Given the description of an element on the screen output the (x, y) to click on. 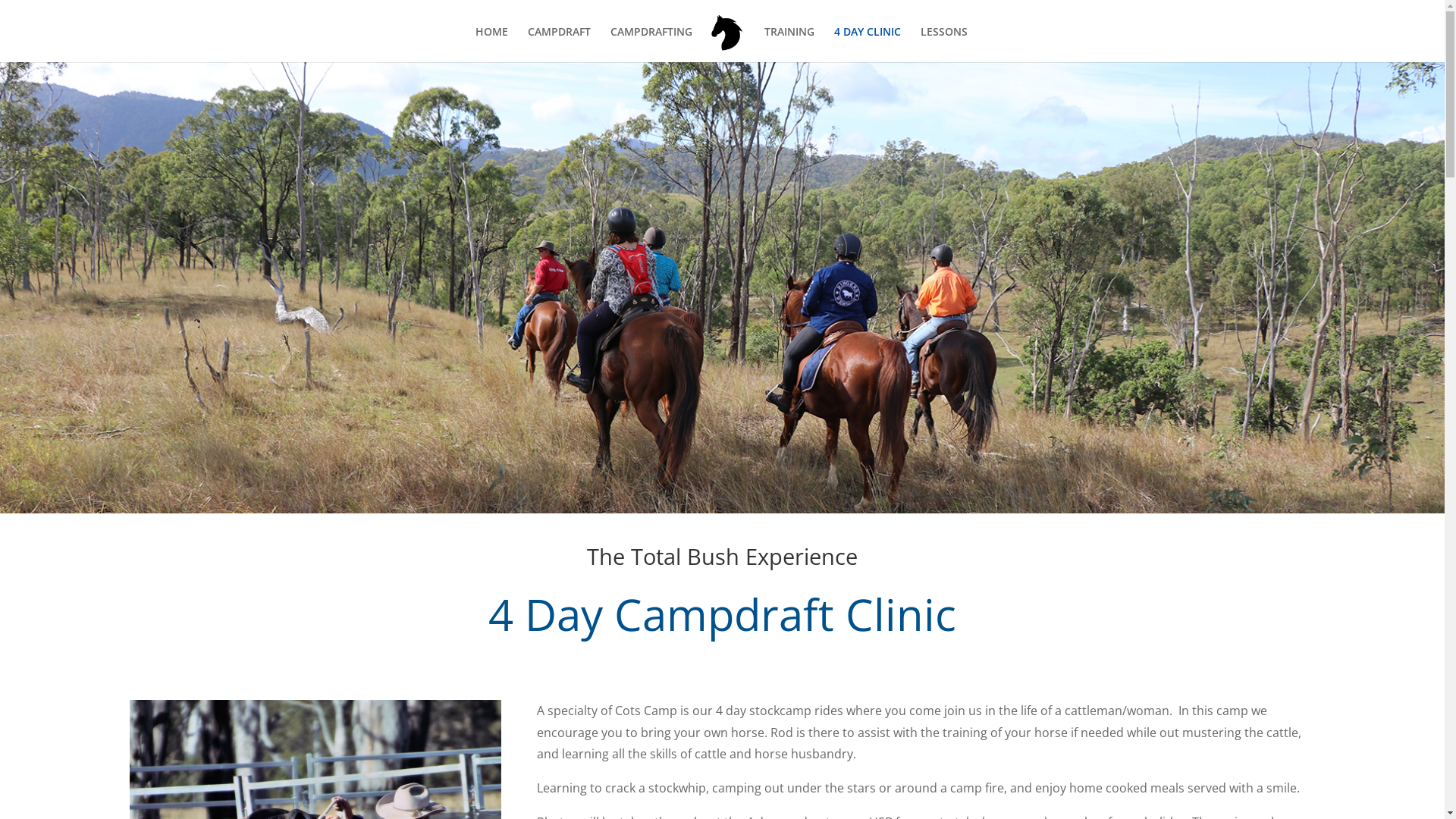
CAMPDRAFT Element type: text (558, 44)
TRAINING Element type: text (789, 44)
LESSONS Element type: text (943, 44)
HOME Element type: text (491, 44)
4 DAY CLINIC Element type: text (867, 44)
CAMPDRAFTING Element type: text (651, 44)
